Given the description of an element on the screen output the (x, y) to click on. 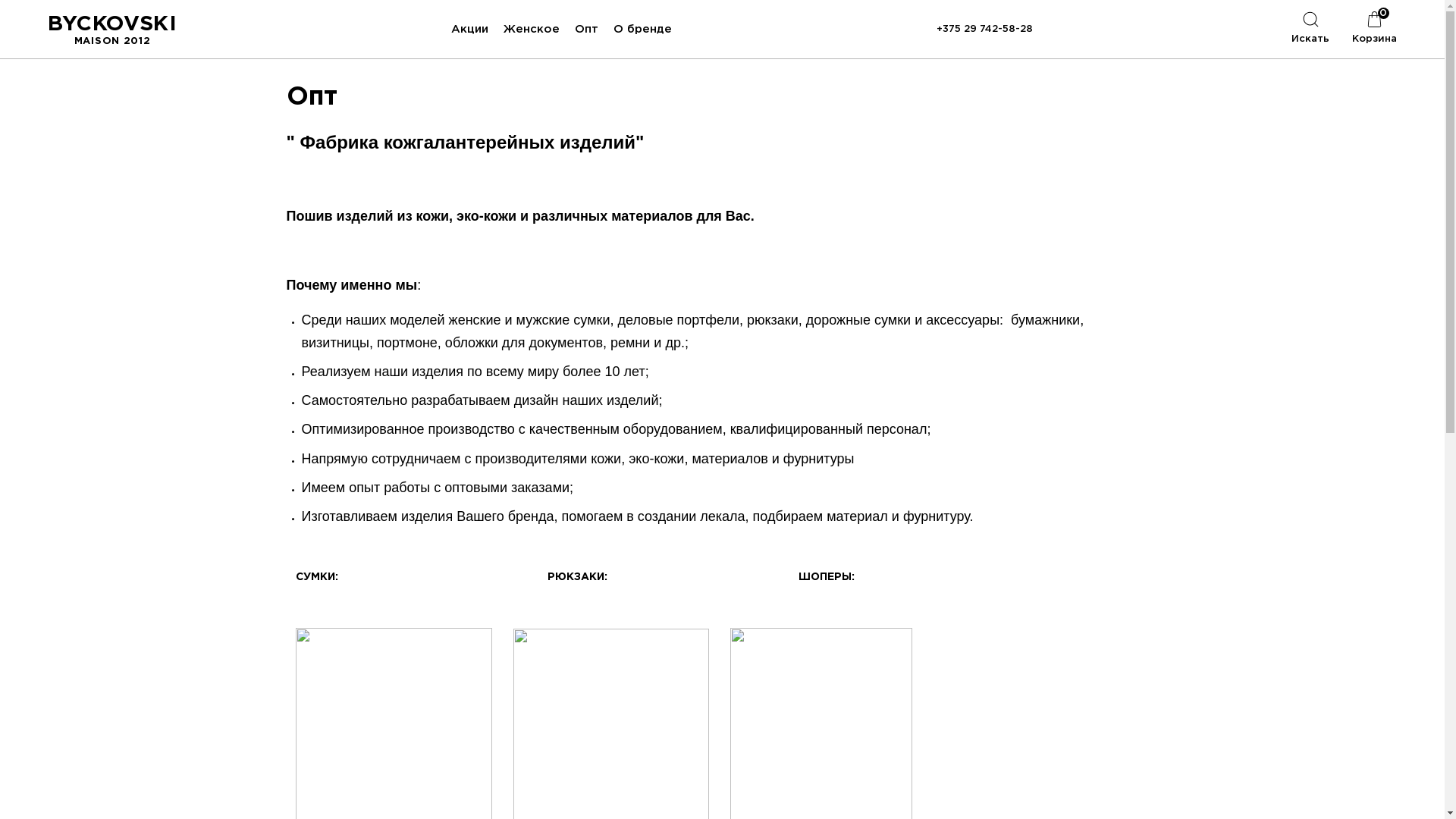
+375 29 742-58-28 Element type: text (984, 29)
BYCKOVSKI
MAISON 2012 Element type: text (111, 29)
